Given the description of an element on the screen output the (x, y) to click on. 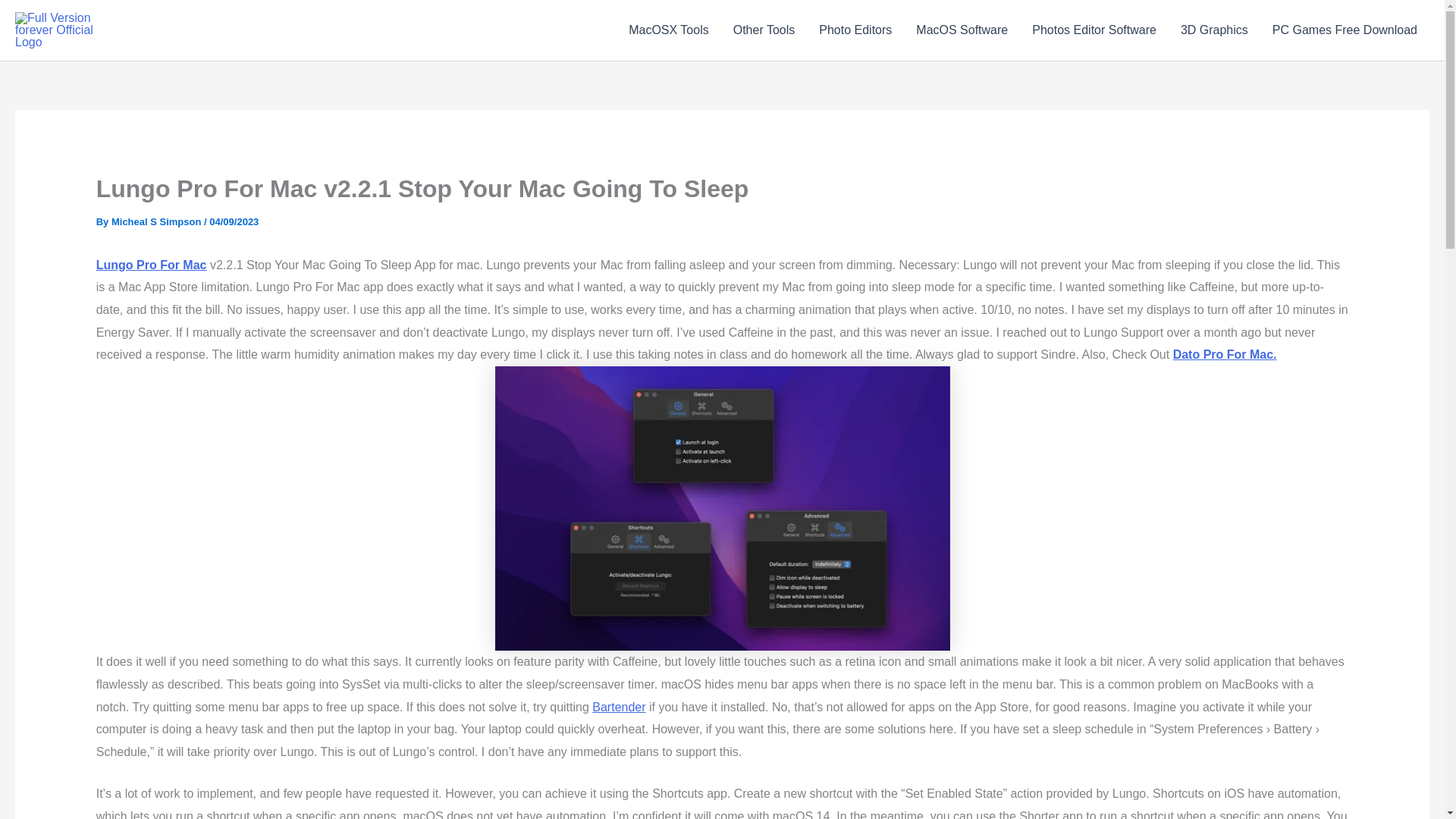
View all posts by Micheal S Simpson (157, 221)
Photos Editor Software (1094, 30)
Dato Pro For Mac. (1224, 354)
Micheal S Simpson (157, 221)
MacOS Software (962, 30)
PC Games Free Download (1344, 30)
Bartender (618, 707)
3D Graphics (1214, 30)
Download Lungo Pro For Mac Offical Website (151, 264)
MacOSX Tools (667, 30)
Other Tools (764, 30)
Lungo Pro For Mac (151, 264)
Photo Editors (855, 30)
